Given the description of an element on the screen output the (x, y) to click on. 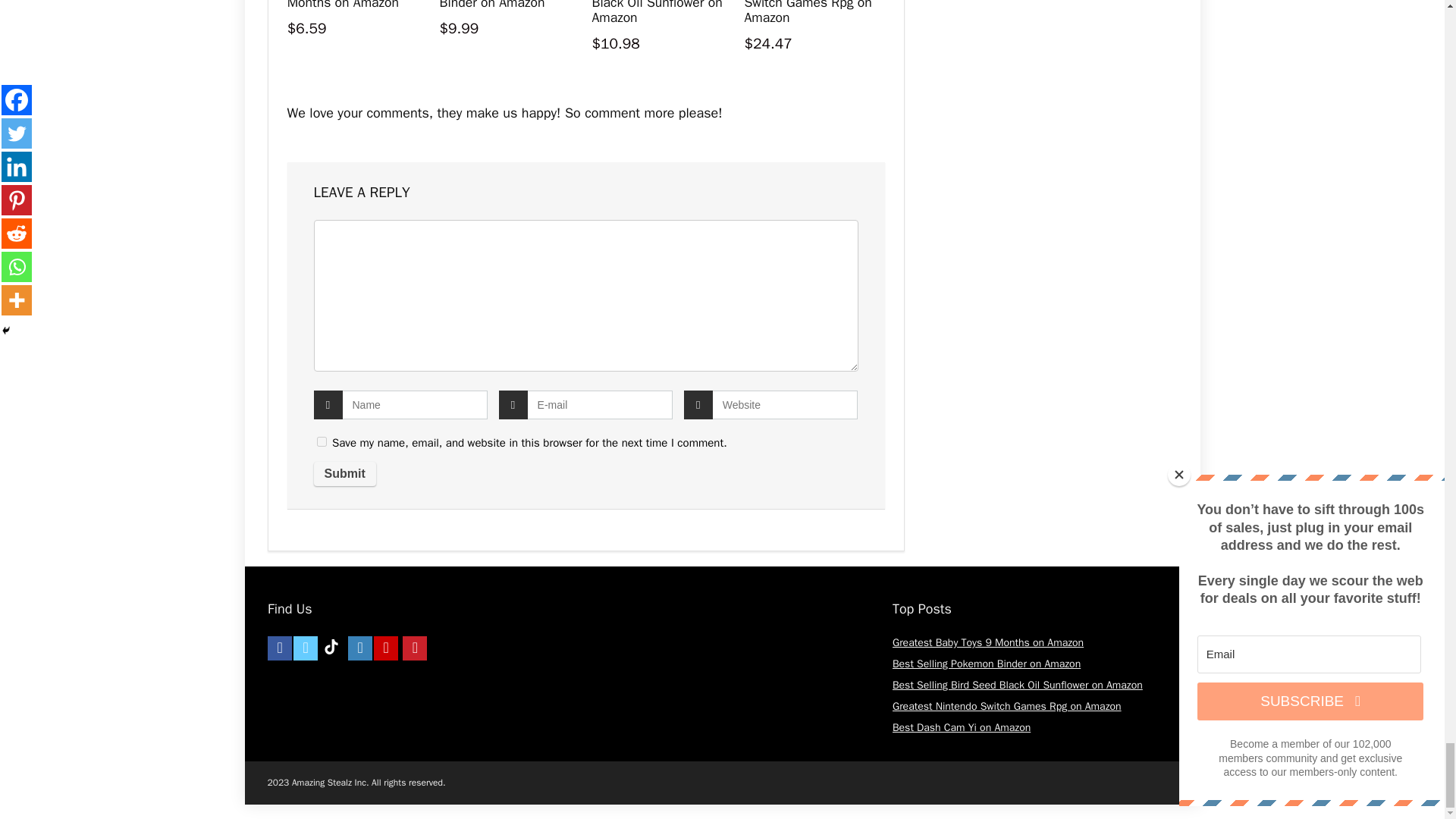
Submit (344, 473)
yes (321, 441)
